Given the description of an element on the screen output the (x, y) to click on. 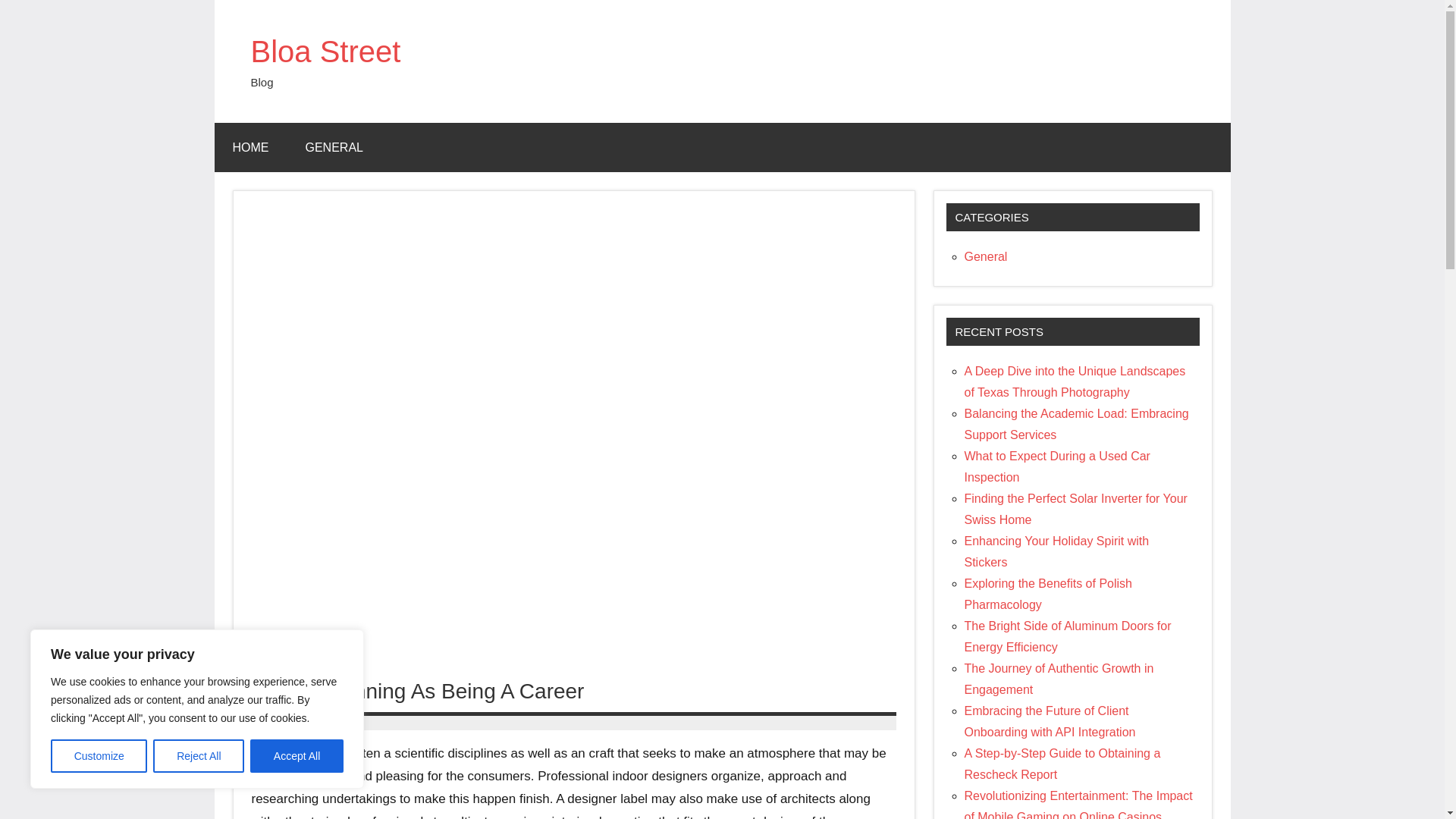
The Journey of Authentic Growth in Engagement (1058, 678)
Accept All (296, 756)
GENERAL (333, 146)
Finding the Perfect Solar Inverter for Your Swiss Home (1075, 509)
Balancing the Academic Load: Embracing Support Services (1076, 424)
What to Expect During a Used Car Inspection (1056, 466)
Exploring the Benefits of Polish Pharmacology (1047, 593)
The Bright Side of Aluminum Doors for Energy Efficiency (1067, 636)
Customize (98, 756)
Reject All (198, 756)
